Given the description of an element on the screen output the (x, y) to click on. 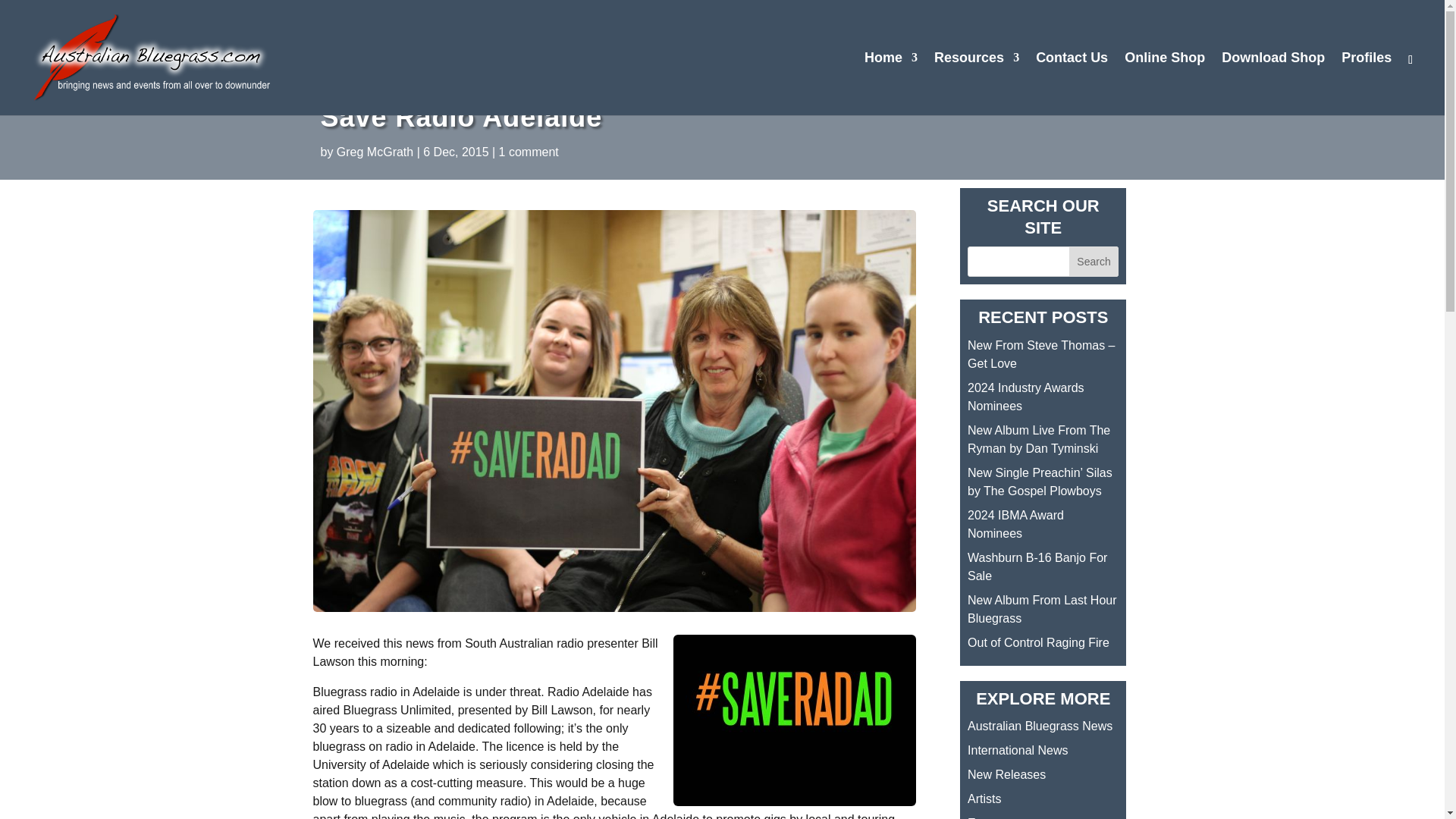
New Album Live From The Ryman by Dan Tyminski (1038, 439)
Events (986, 817)
2024 IBMA Award Nominees (1016, 523)
Online Shop (1164, 83)
Send an email from this web page (1071, 83)
1 comment (529, 151)
Search (1093, 261)
Australian Bluegrass Profiles (1365, 83)
Out of Control Raging Fire (1038, 642)
Artists (984, 798)
Home (890, 83)
Posts by Greg McGrath (374, 151)
Profiles (1365, 83)
Contact Us (1071, 83)
